Given the description of an element on the screen output the (x, y) to click on. 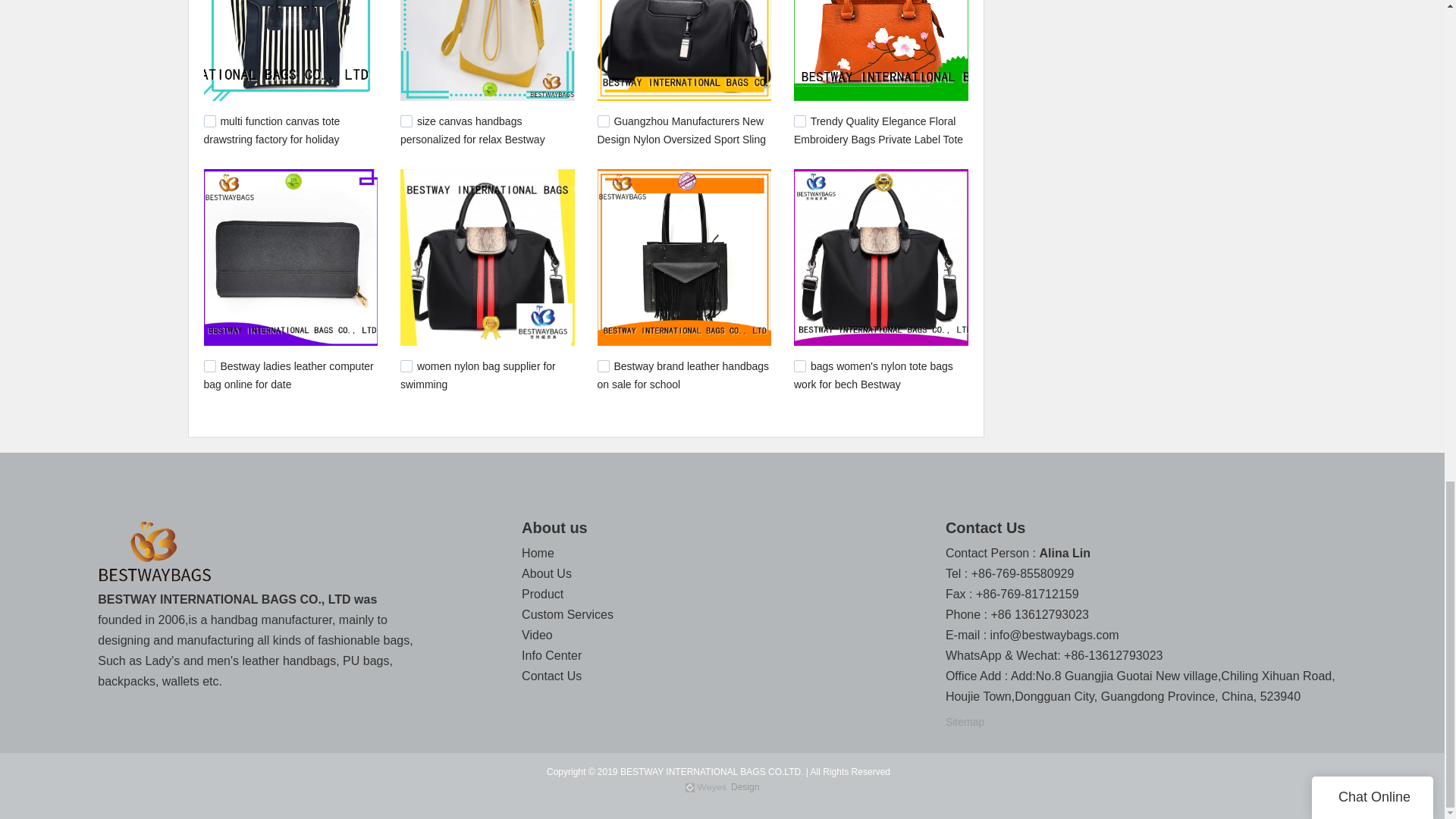
multi function canvas tote drawstring factory for holiday (271, 130)
women nylon bag supplier for swimming (478, 375)
2695 (209, 121)
2668 (406, 121)
bags women's nylon tote bags work for bech Bestway (873, 375)
1160 (799, 366)
1826 (209, 366)
Bestway ladies leather computer bag online for date (287, 375)
